Given the description of an element on the screen output the (x, y) to click on. 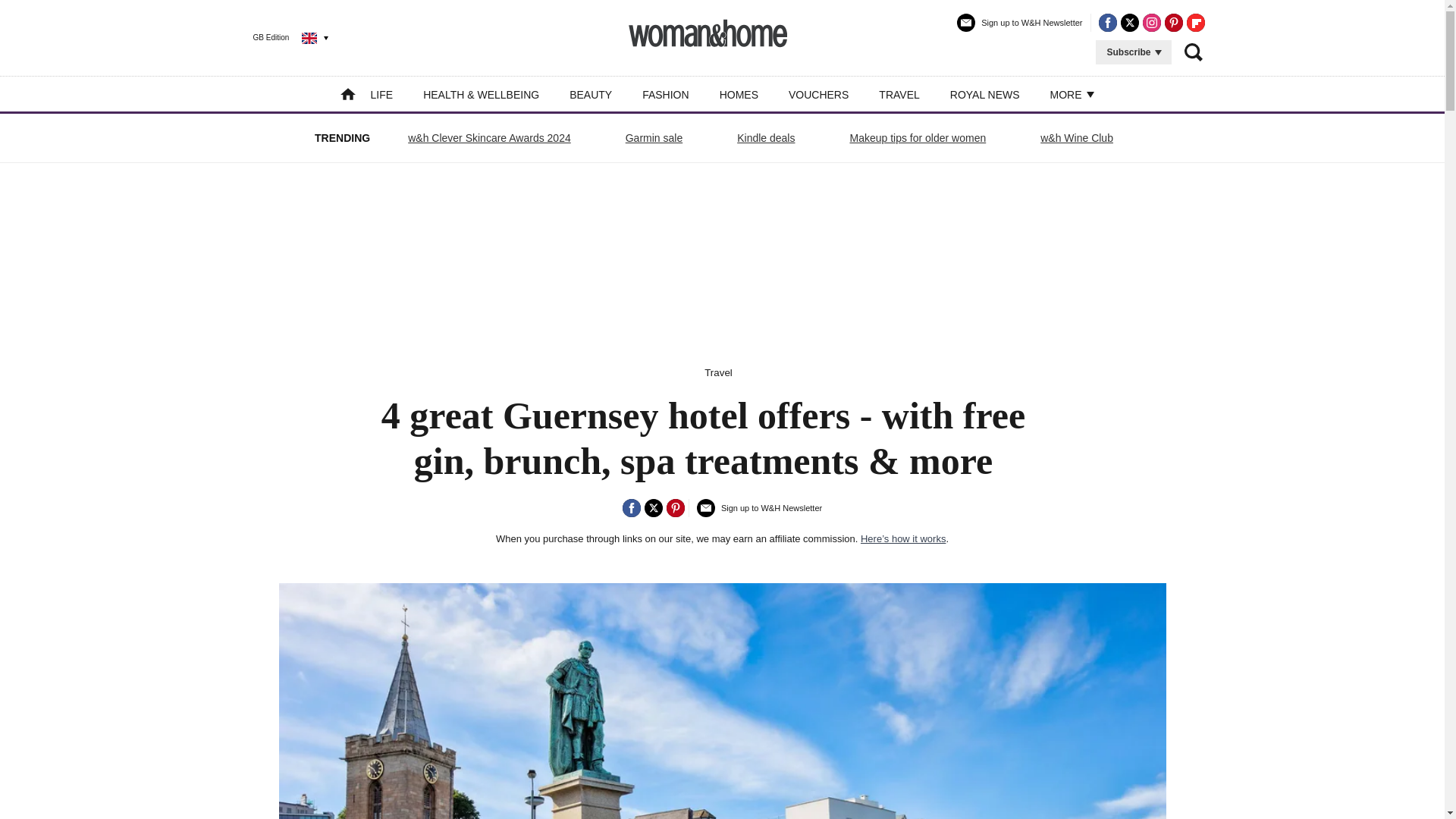
ROYAL NEWS (985, 94)
LIFE (382, 94)
HOMES (738, 94)
FASHION (665, 94)
Kindle deals (765, 137)
Garmin sale (653, 137)
GB Edition (279, 37)
VOUCHERS (818, 94)
Makeup tips for older women (917, 137)
BEAUTY (590, 94)
TRAVEL (898, 94)
Travel (718, 372)
